Given the description of an element on the screen output the (x, y) to click on. 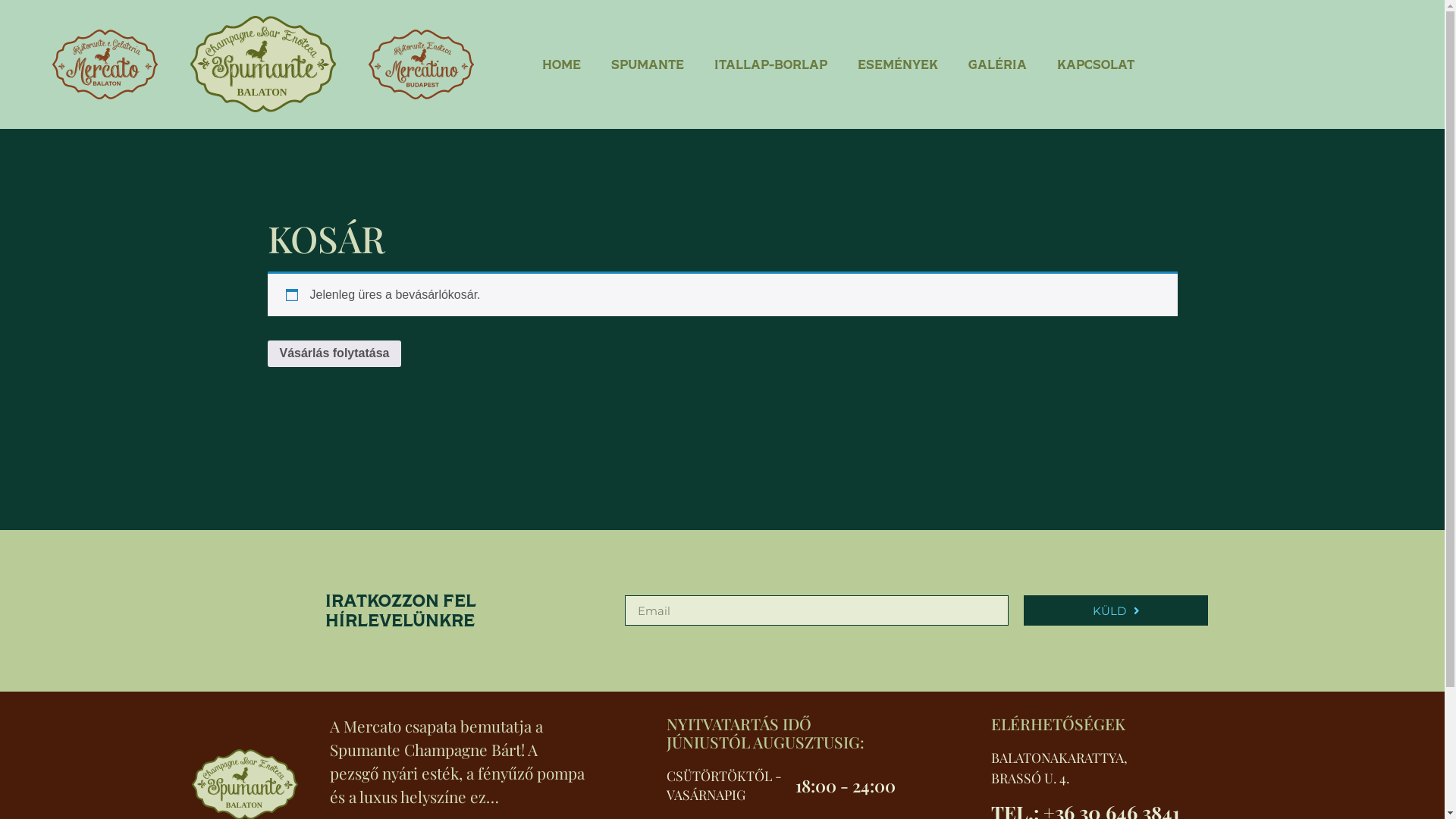
SPUMANTE Element type: text (647, 64)
HOME Element type: text (561, 64)
ITALLAP-BORLAP Element type: text (770, 64)
KAPCSOLAT Element type: text (1095, 64)
